Given the description of an element on the screen output the (x, y) to click on. 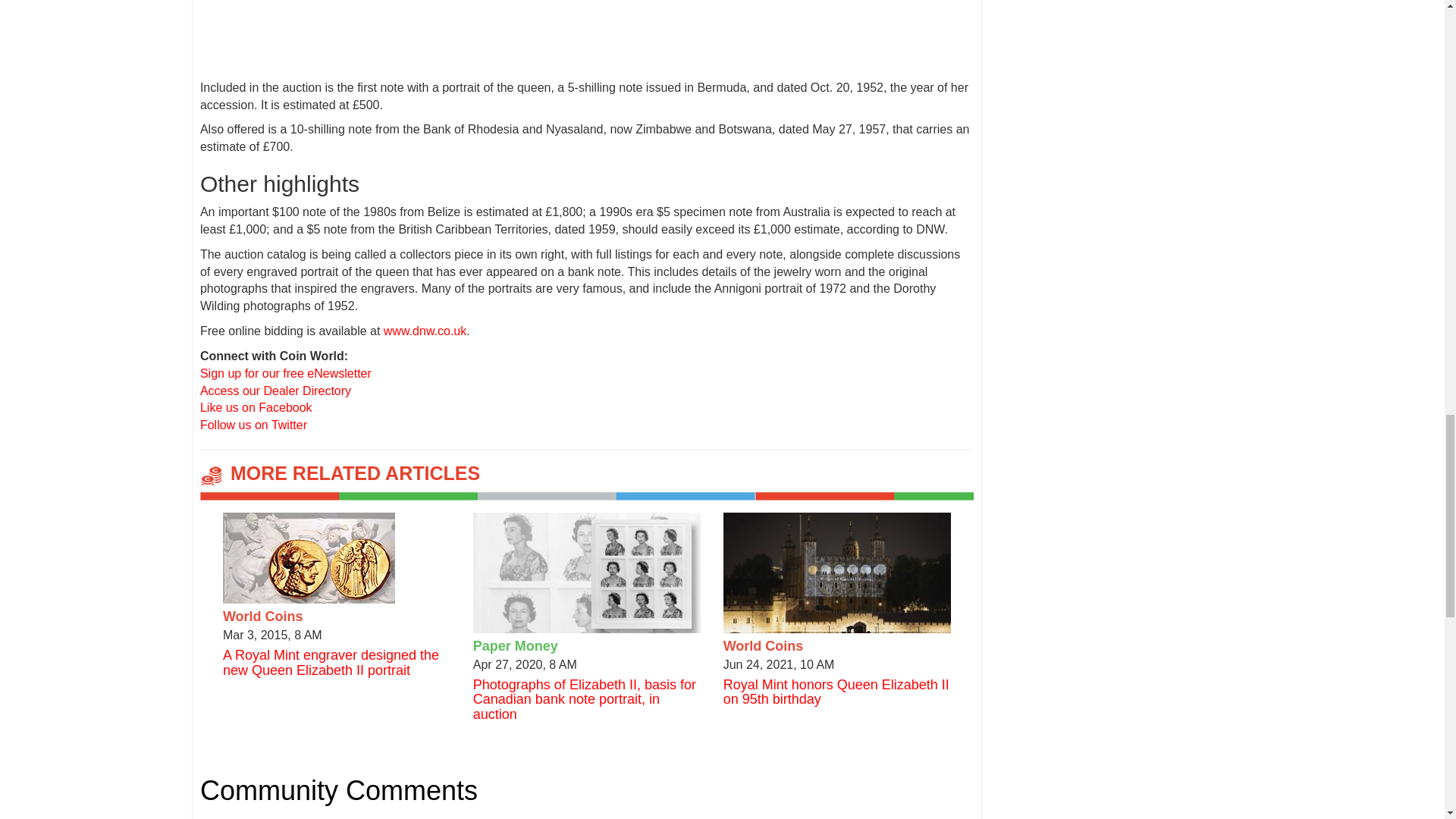
3rd party ad content (586, 21)
